Given the description of an element on the screen output the (x, y) to click on. 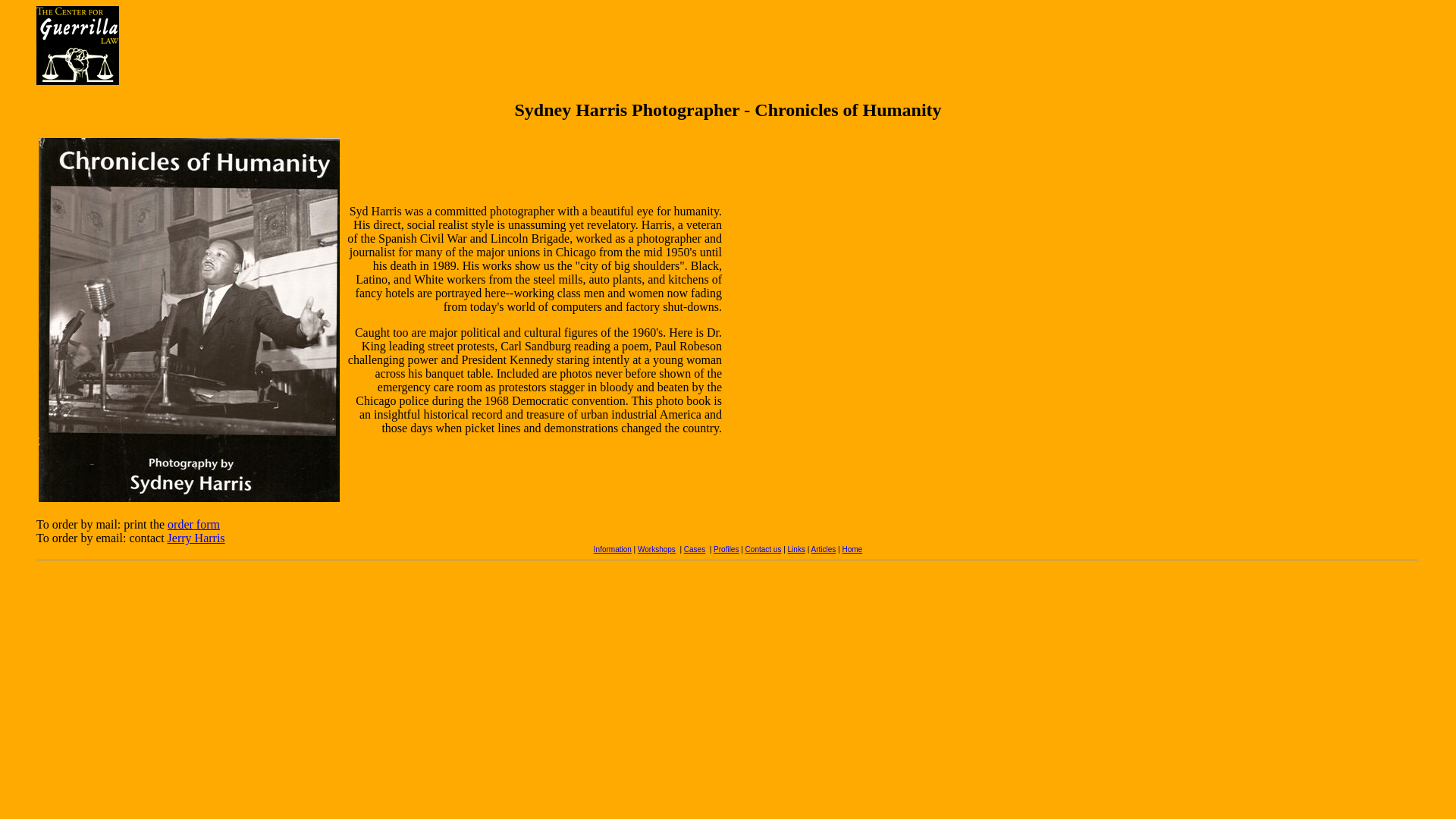
Cases (694, 549)
Articles (822, 549)
order form (193, 523)
Contact us (763, 549)
Jerry Harris (196, 537)
Workshops (656, 549)
Links (796, 549)
Home (851, 549)
Information (612, 549)
Profiles (725, 549)
